Given the description of an element on the screen output the (x, y) to click on. 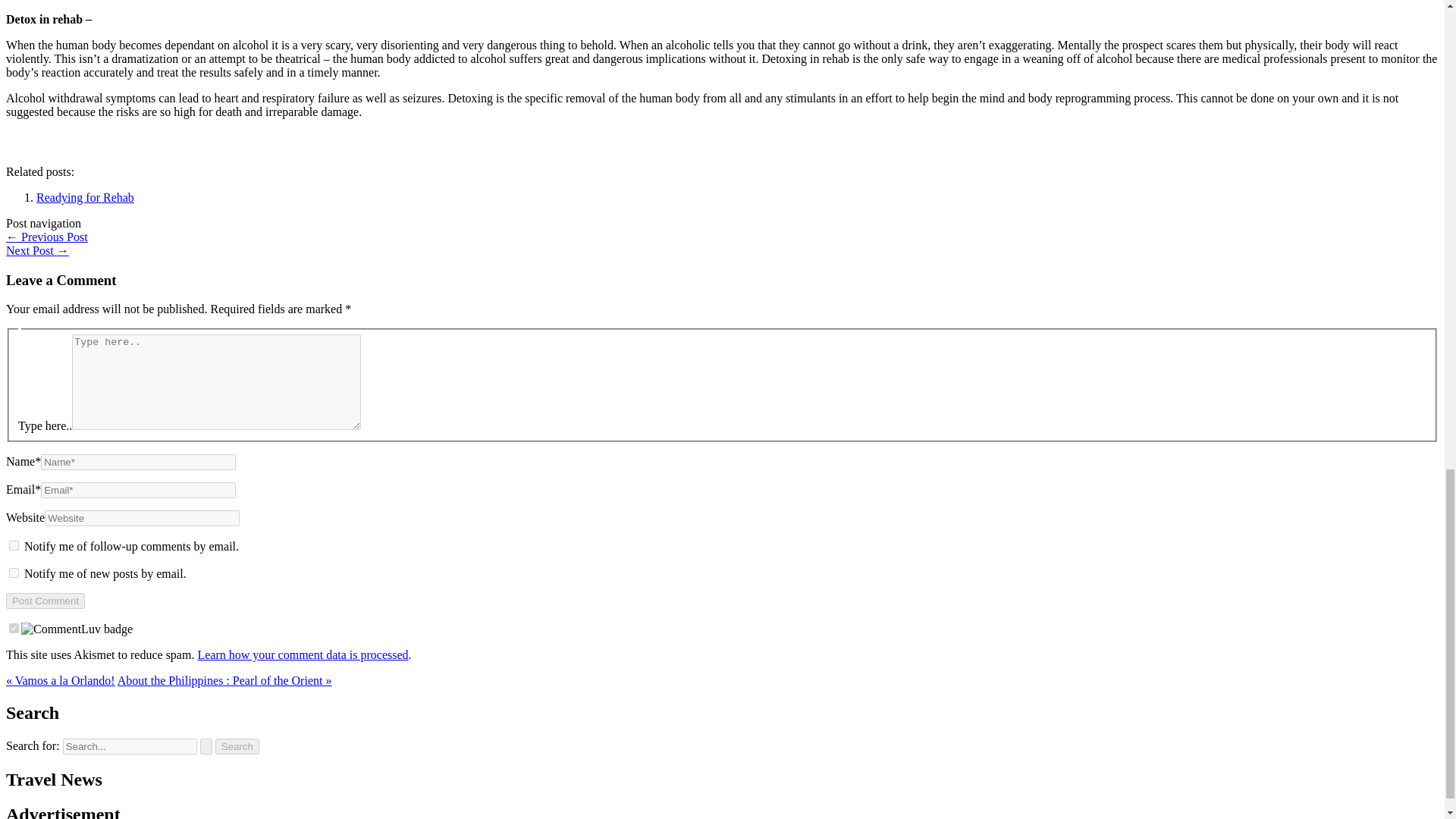
Search (237, 746)
subscribe (13, 545)
Vamos a la Orlando! (46, 236)
on (13, 628)
Readying for Rehab (84, 196)
subscribe (13, 573)
Readying for Rehab (84, 196)
Search (237, 746)
Post Comment (44, 600)
Traveling with Menopausal Symptoms - What you can do? (36, 250)
Search (237, 746)
Learn how your comment data is processed (301, 654)
Post Comment (44, 600)
